Given the description of an element on the screen output the (x, y) to click on. 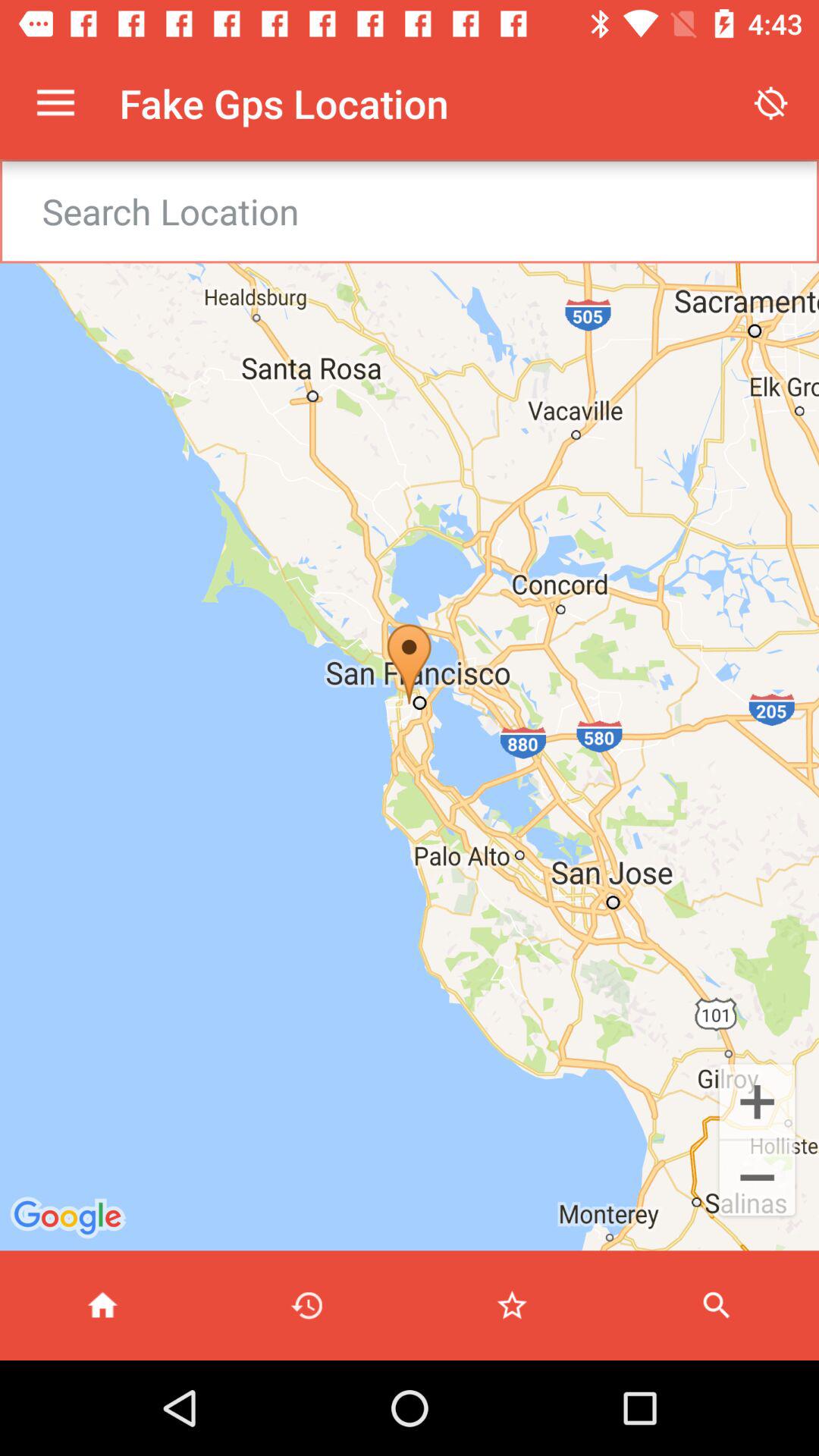
home (102, 1305)
